Given the description of an element on the screen output the (x, y) to click on. 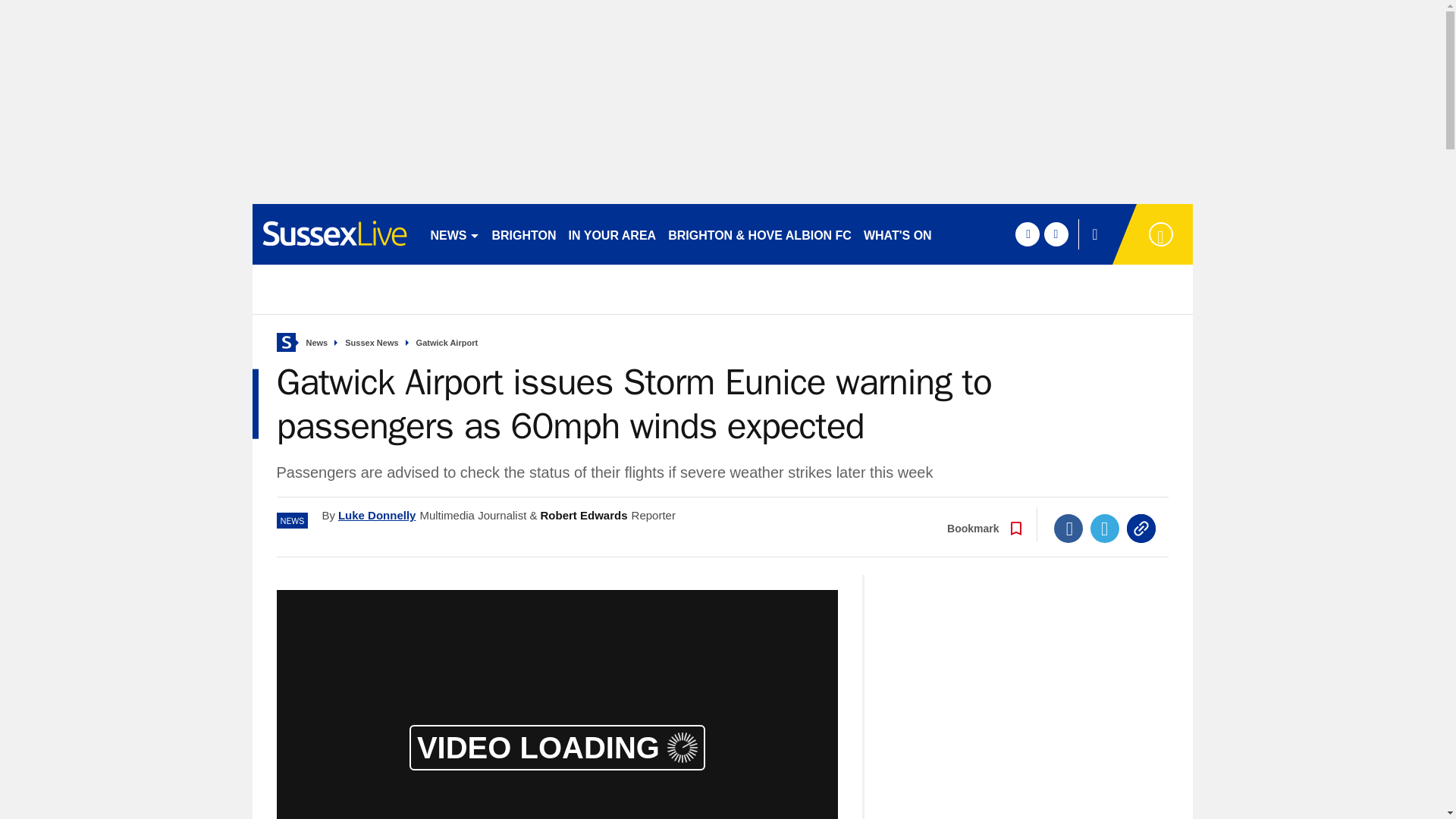
BRIGHTON (523, 233)
IN YOUR AREA (612, 233)
facebook (1026, 233)
sussexlive (333, 233)
Facebook (1068, 528)
NEWS (455, 233)
WHAT'S ON (897, 233)
Twitter (1104, 528)
twitter (1055, 233)
